Given the description of an element on the screen output the (x, y) to click on. 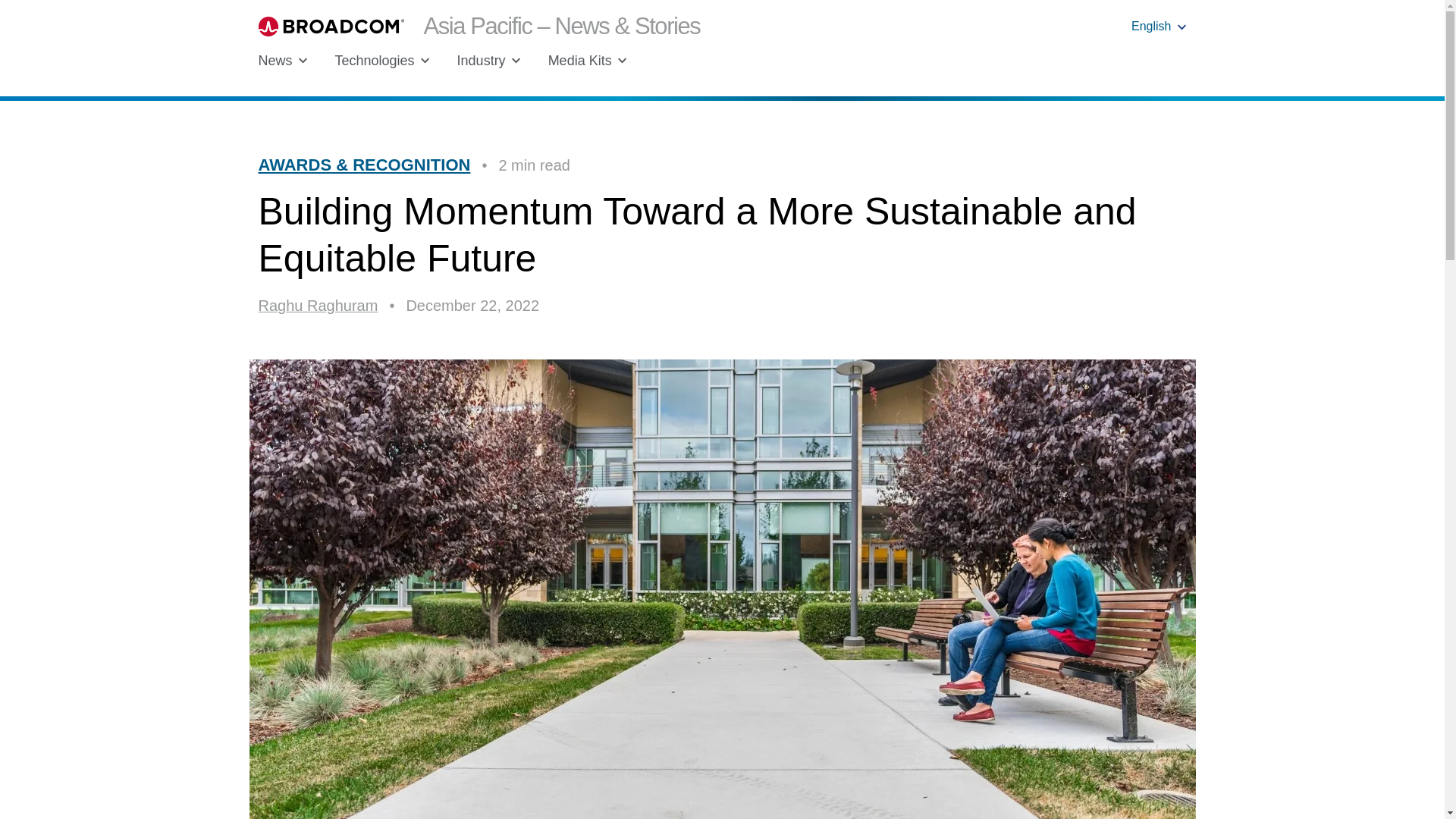
Media Kits (587, 60)
Chevron Down Icon (516, 60)
Open Language Settings (1158, 26)
Chevron Down Icon (622, 60)
News (282, 60)
Chevron Down Icon (424, 60)
Technologies (381, 60)
Chevron Down Icon (1181, 27)
Chevron Down Icon (302, 60)
Industry (489, 60)
English (1158, 26)
